Given the description of an element on the screen output the (x, y) to click on. 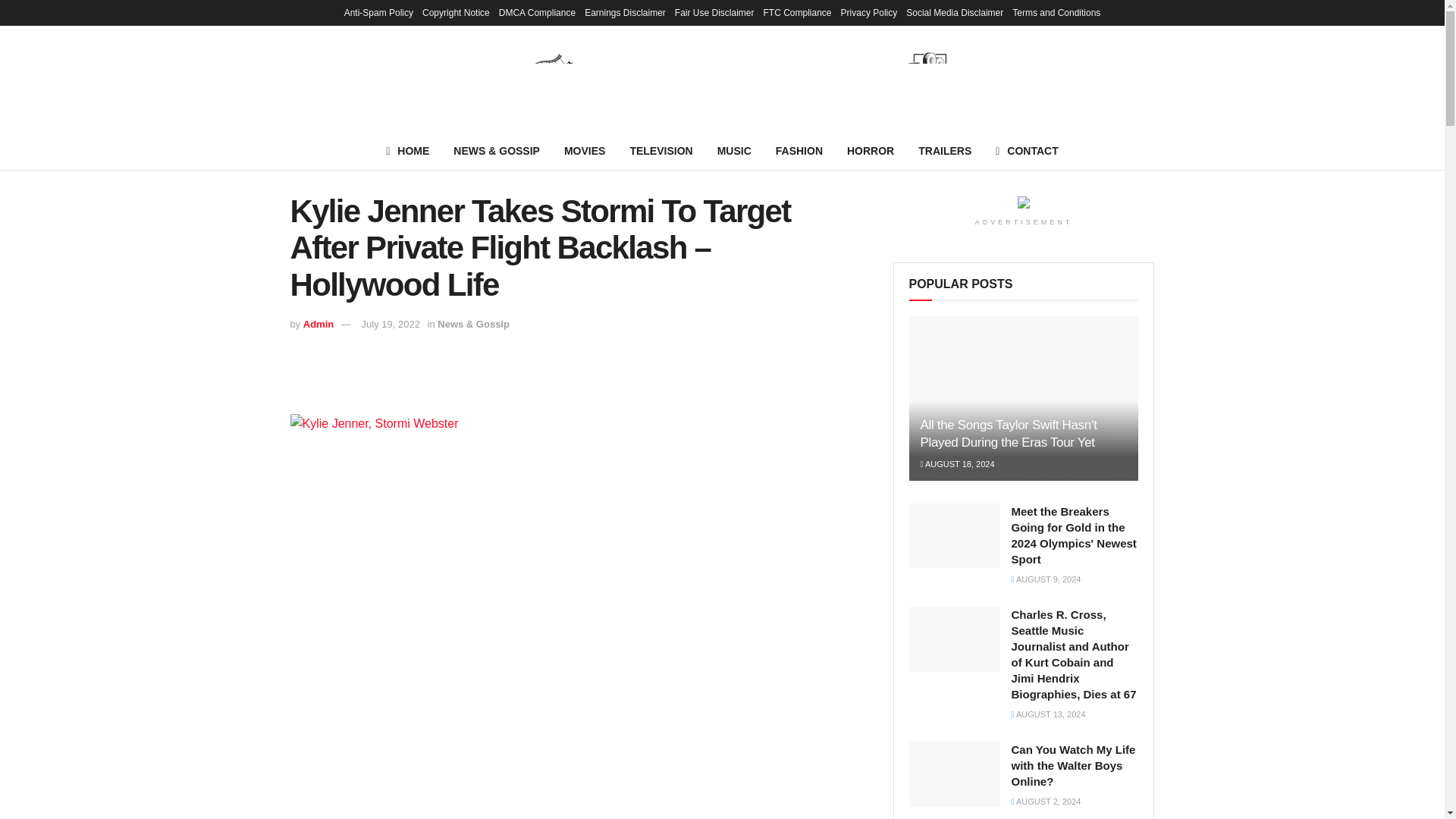
Social Media Disclaimer (954, 12)
Copyright Notice (455, 12)
July 19, 2022 (390, 324)
HOME (407, 150)
MUSIC (733, 150)
Privacy Policy (869, 12)
FTC Compliance (796, 12)
HORROR (869, 150)
CONTACT (1027, 150)
Terms and Conditions (1055, 12)
